Given the description of an element on the screen output the (x, y) to click on. 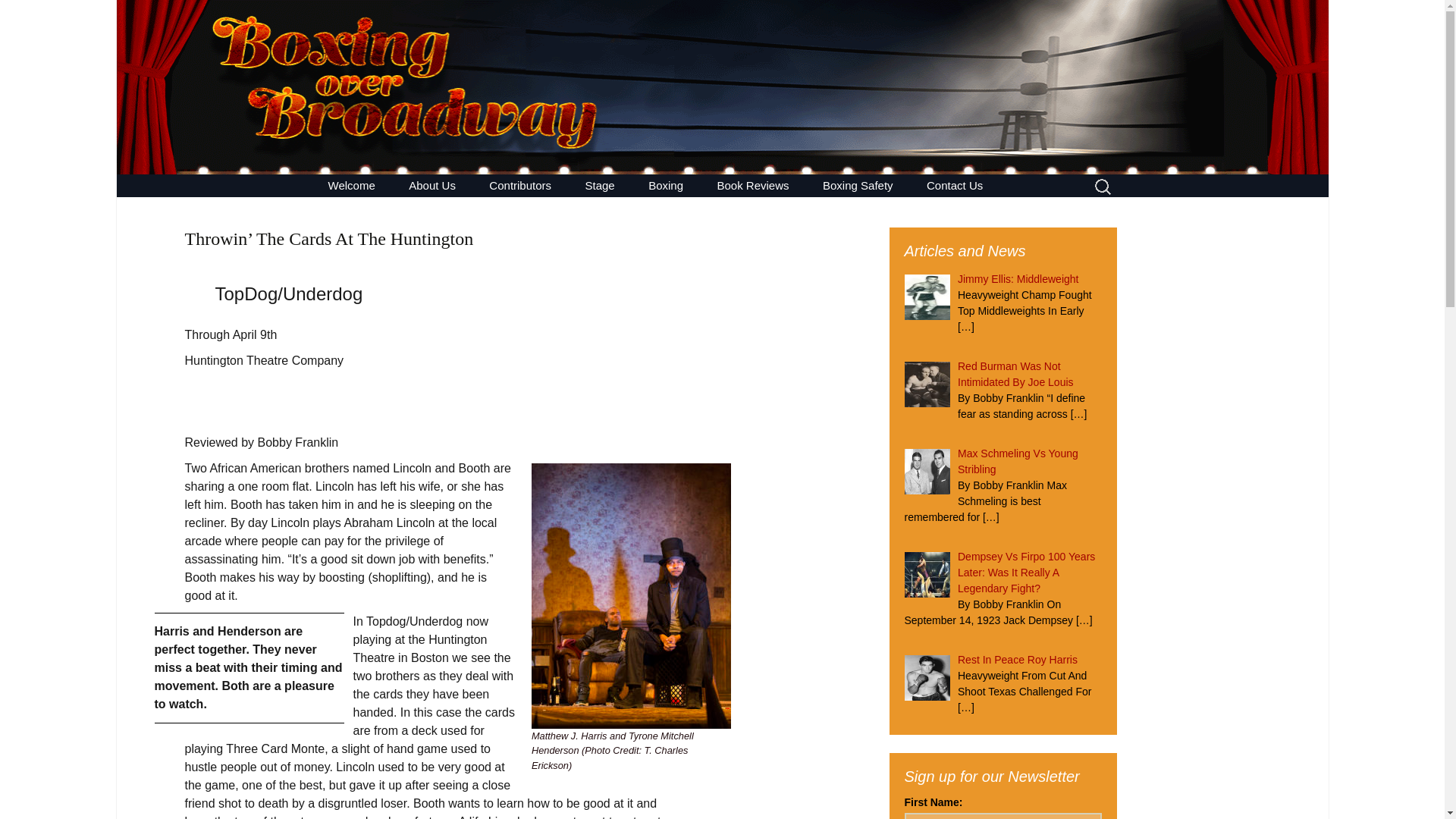
About Us (431, 185)
Skip to content (646, 207)
Skip to content (858, 185)
Boxing Articles (753, 185)
Archives by Author (708, 207)
Stage (550, 207)
Search (600, 185)
Boxing Over Broadway (18, 15)
Max Schmeling Vs Young Stribling (665, 185)
